Given the description of an element on the screen output the (x, y) to click on. 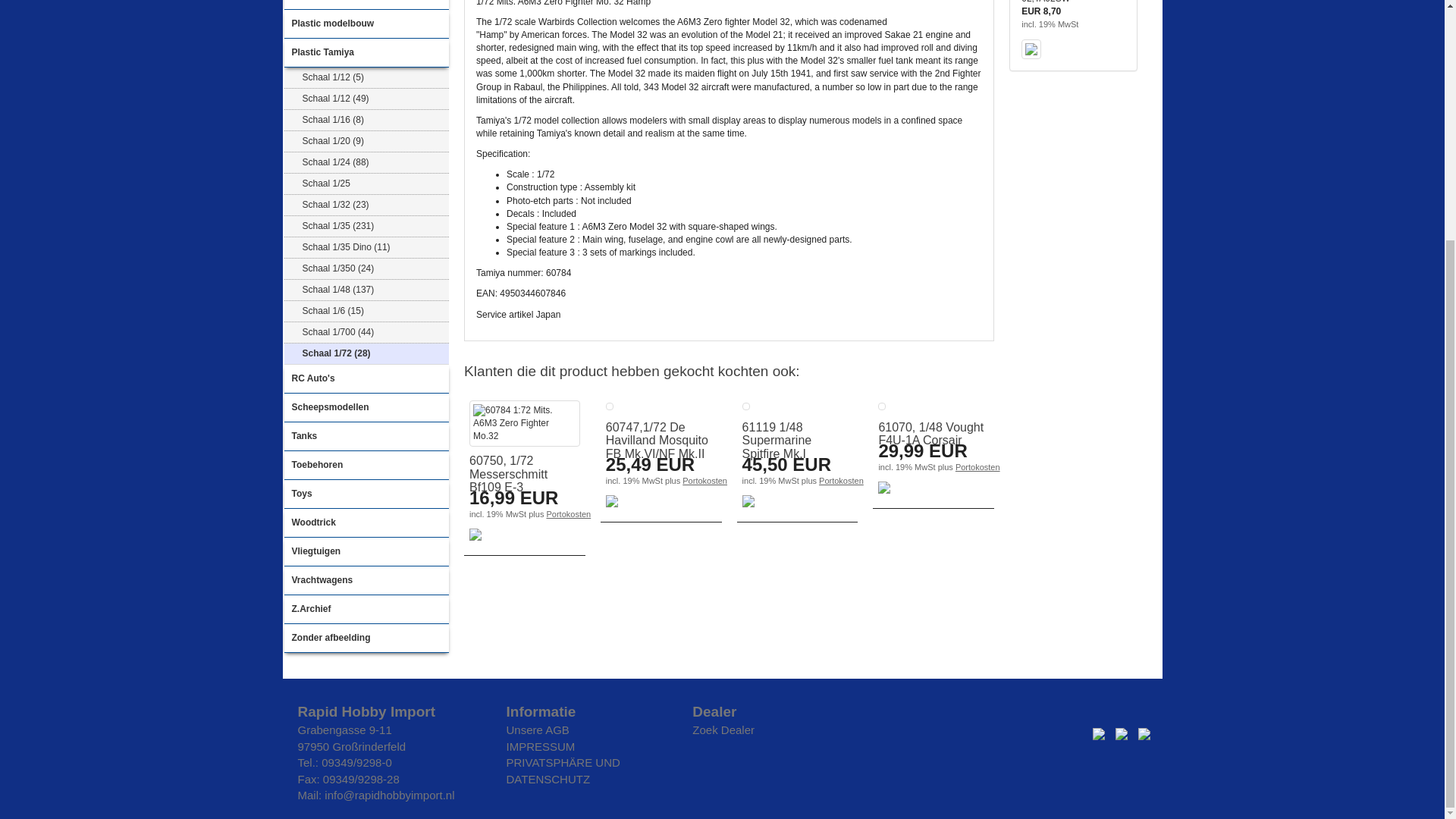
Plastic modelbouw (365, 23)
60784 1:72 Mits. A6M3 Zero Fighter Mo.32 (523, 423)
Plastic Tamiya (365, 52)
